Given the description of an element on the screen output the (x, y) to click on. 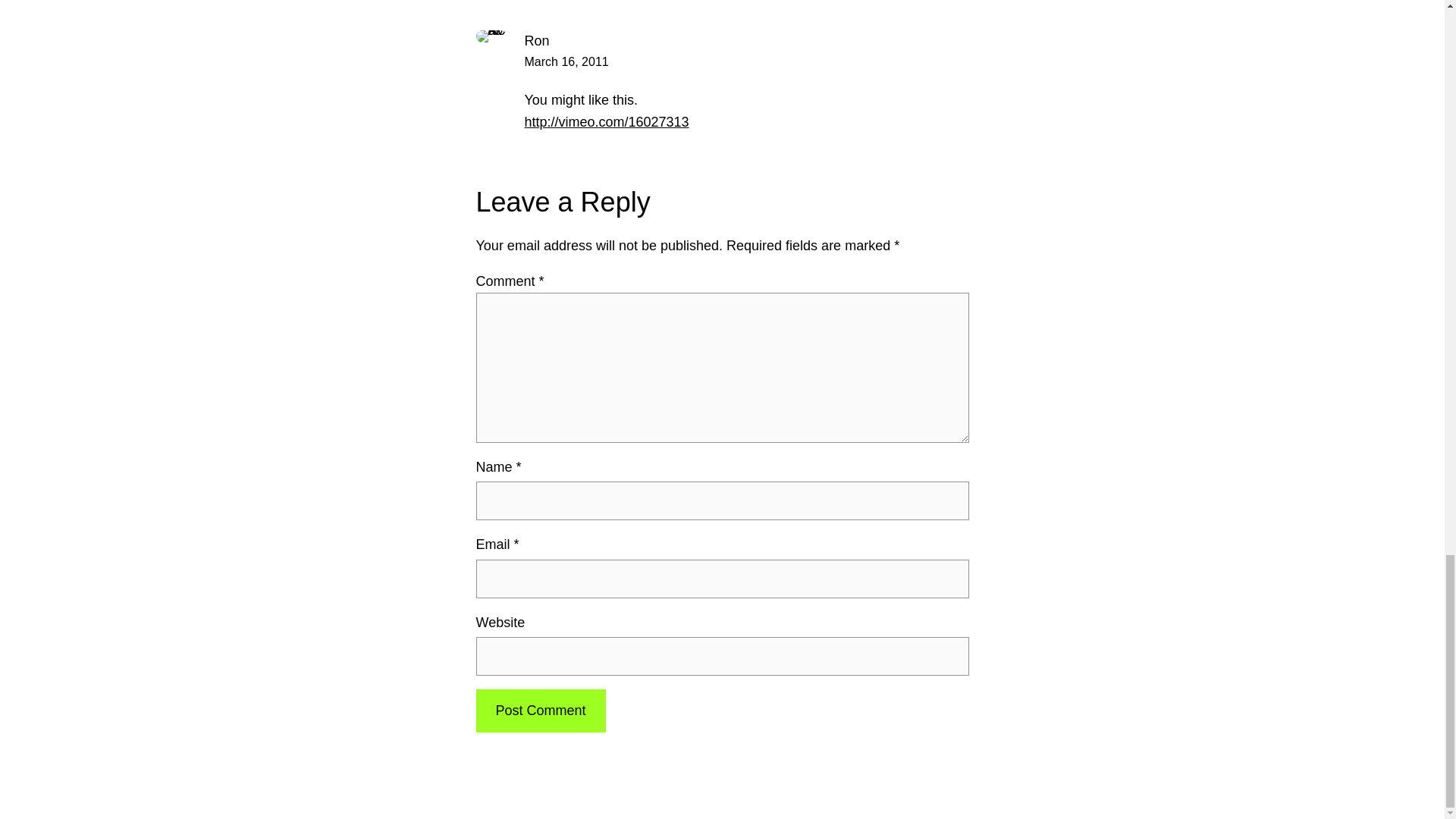
Post Comment (540, 710)
Ron (537, 40)
March 16, 2011 (566, 61)
Post Comment (540, 710)
